Given the description of an element on the screen output the (x, y) to click on. 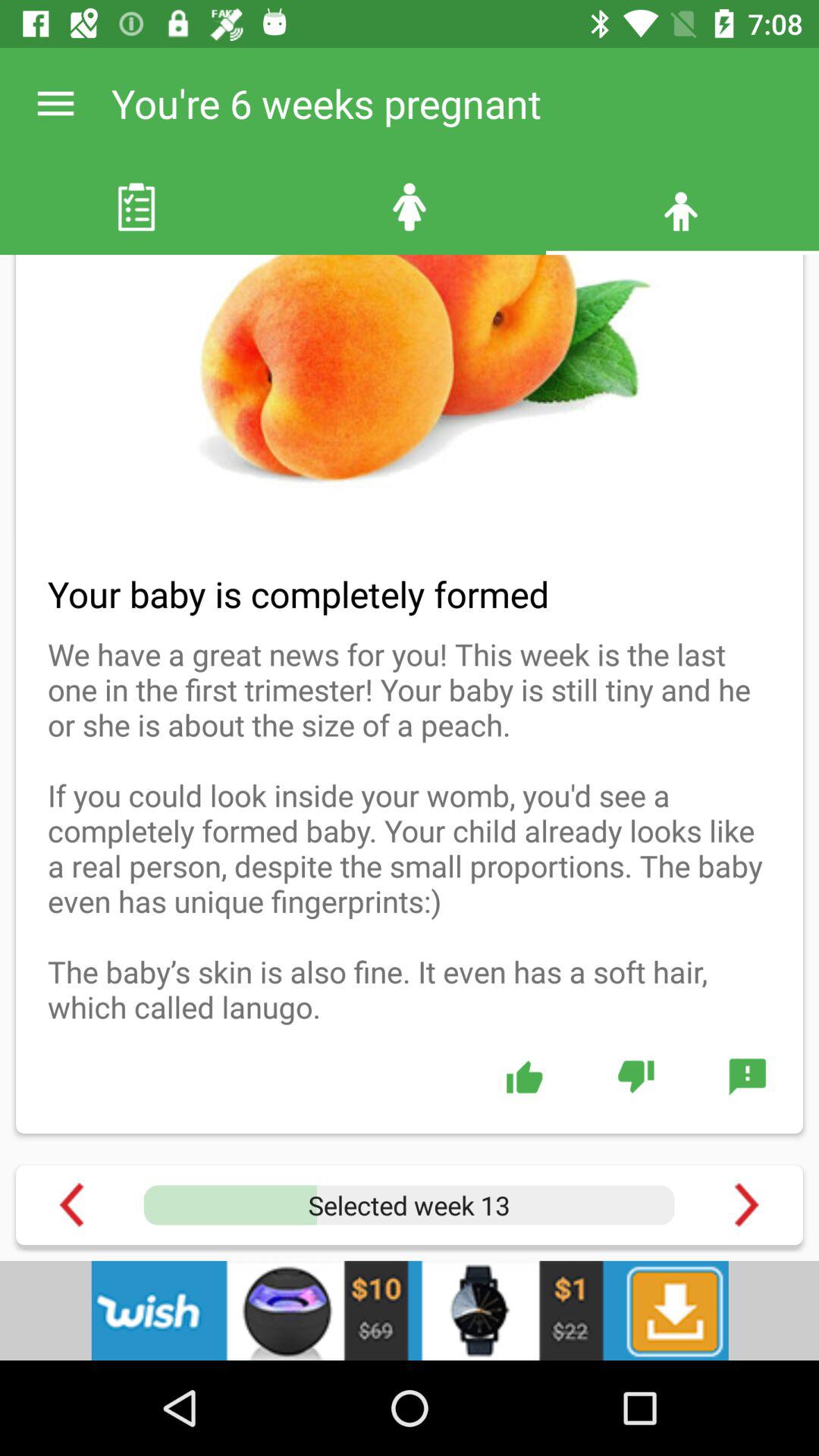
un like (635, 1076)
